Given the description of an element on the screen output the (x, y) to click on. 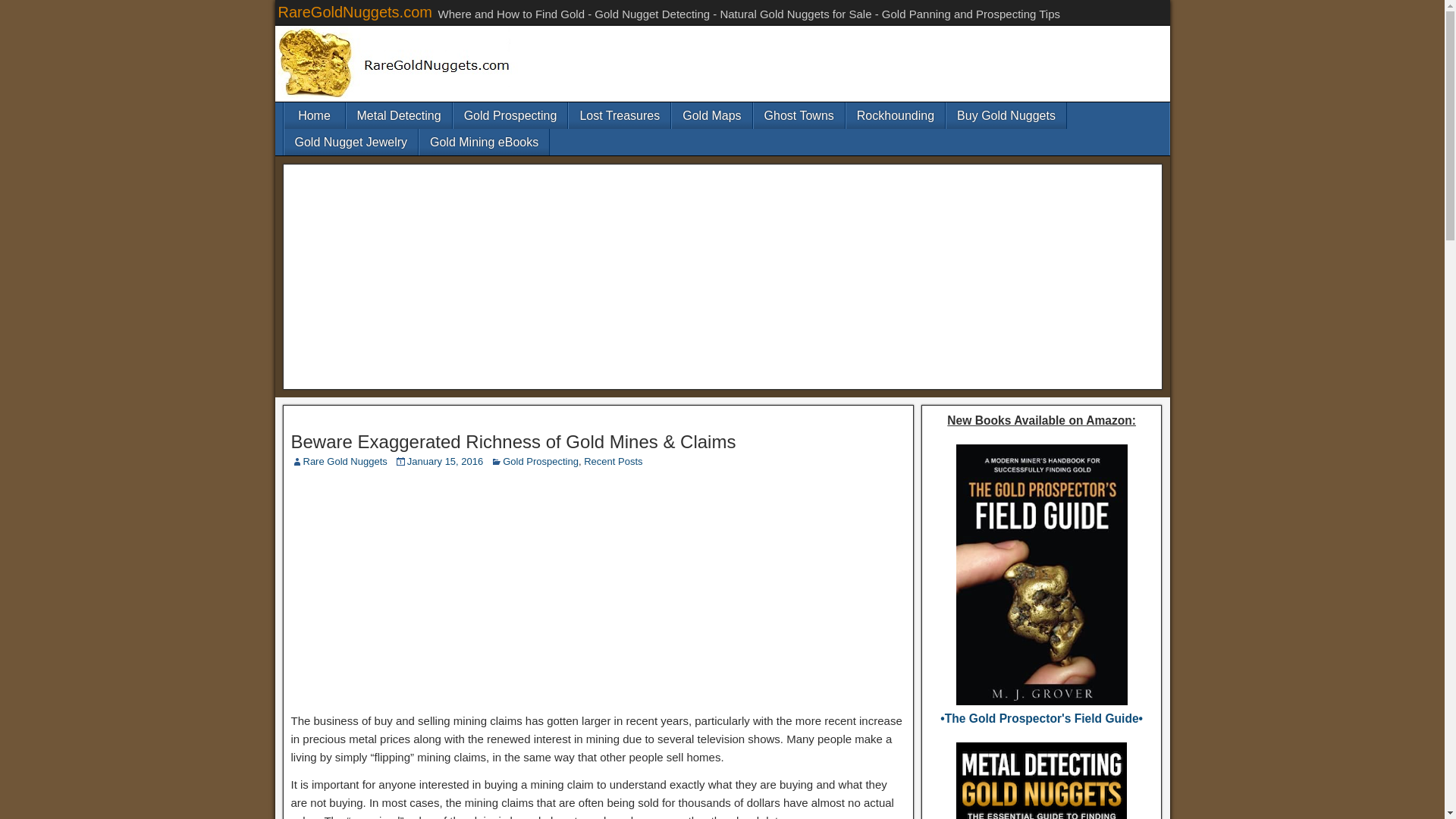
Home (313, 115)
Lost Treasures (619, 115)
January 15, 2016 (445, 460)
RareGoldNuggets.com (354, 12)
Ghost Towns (799, 115)
Gold Mining eBooks (483, 141)
Gold Maps (711, 115)
Advertisement (598, 589)
Recent Posts (612, 460)
Metal Detecting (398, 115)
Buy Gold Nuggets (1005, 115)
Gold Prospecting (540, 460)
Gold Nugget Jewelry (350, 141)
Rare Gold Nuggets (344, 460)
